Given the description of an element on the screen output the (x, y) to click on. 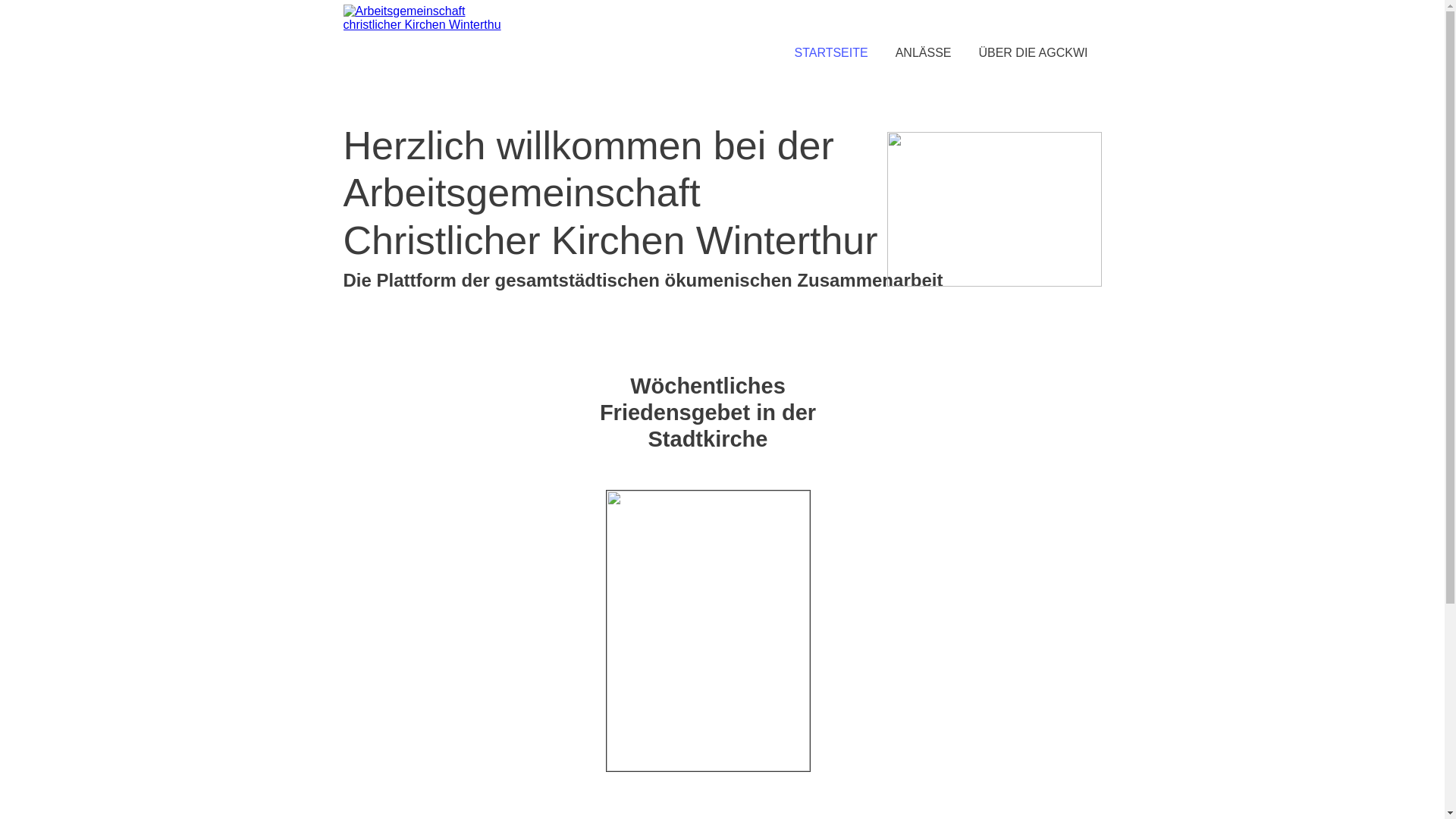
STARTSEITE Element type: text (830, 52)
